Given the description of an element on the screen output the (x, y) to click on. 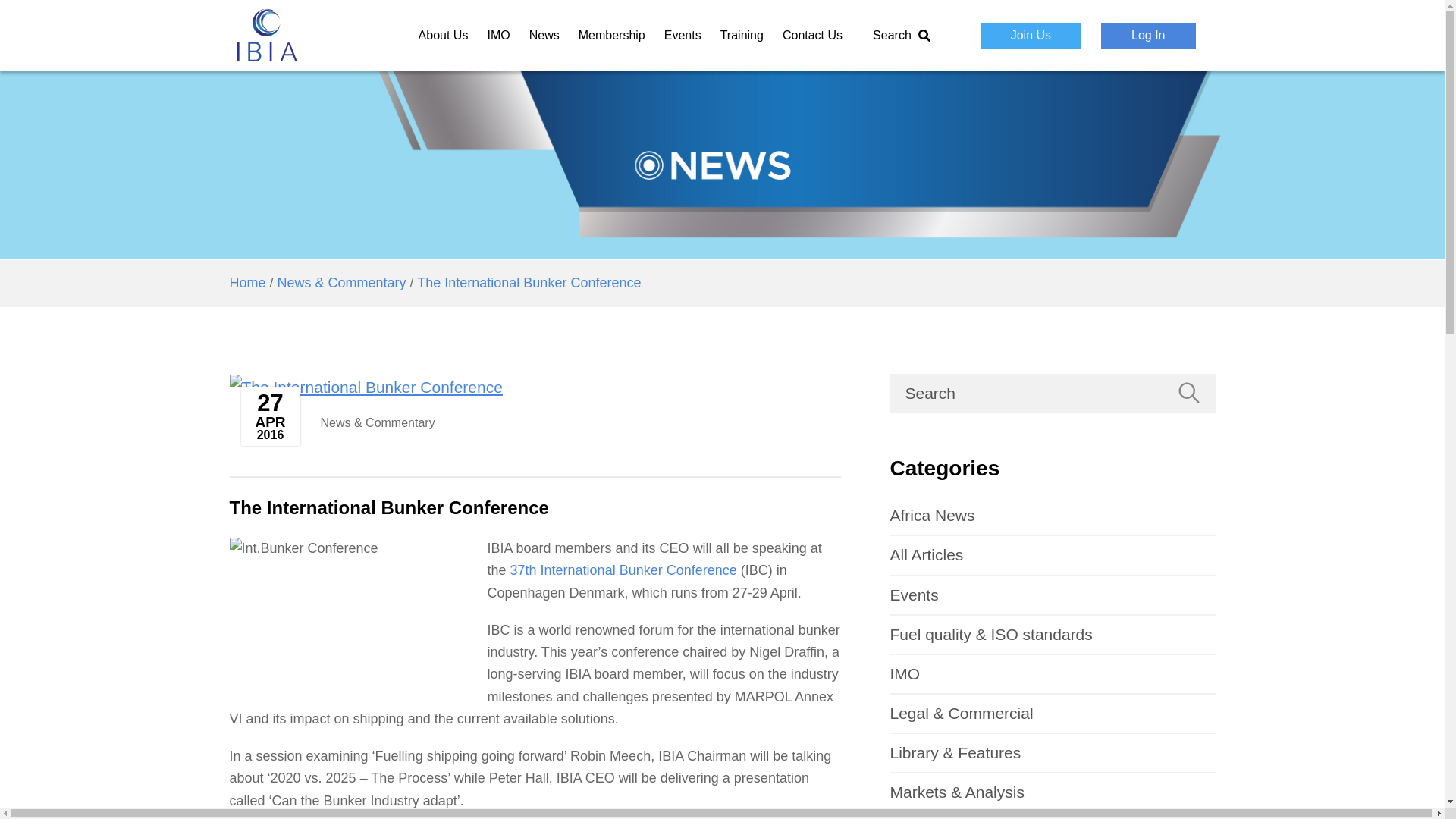
Submit (1187, 392)
Contact Us (813, 35)
IMO (1052, 673)
Home (246, 282)
IMO (497, 35)
Log In (1147, 35)
Events (1052, 595)
Submit (1187, 392)
All Articles (1052, 555)
37th International Bunker Conference (626, 570)
